Given the description of an element on the screen output the (x, y) to click on. 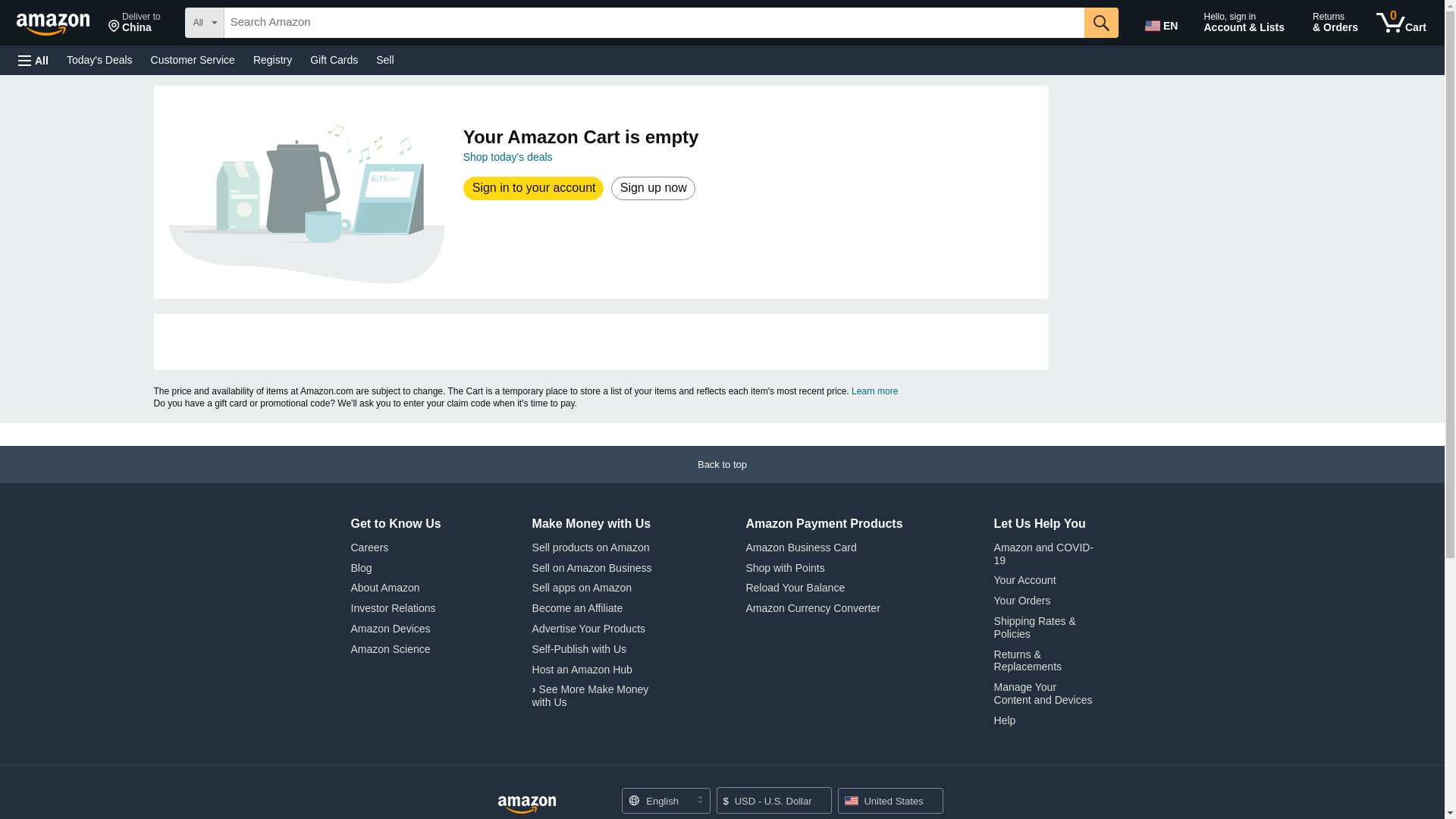
All (33, 60)
Sell apps on Amazon (581, 587)
Learn more (874, 390)
About Amazon (134, 22)
Investor Relations (384, 587)
Host an Amazon Hub (392, 607)
Sell products on Amazon (581, 669)
EN (590, 547)
